Given the description of an element on the screen output the (x, y) to click on. 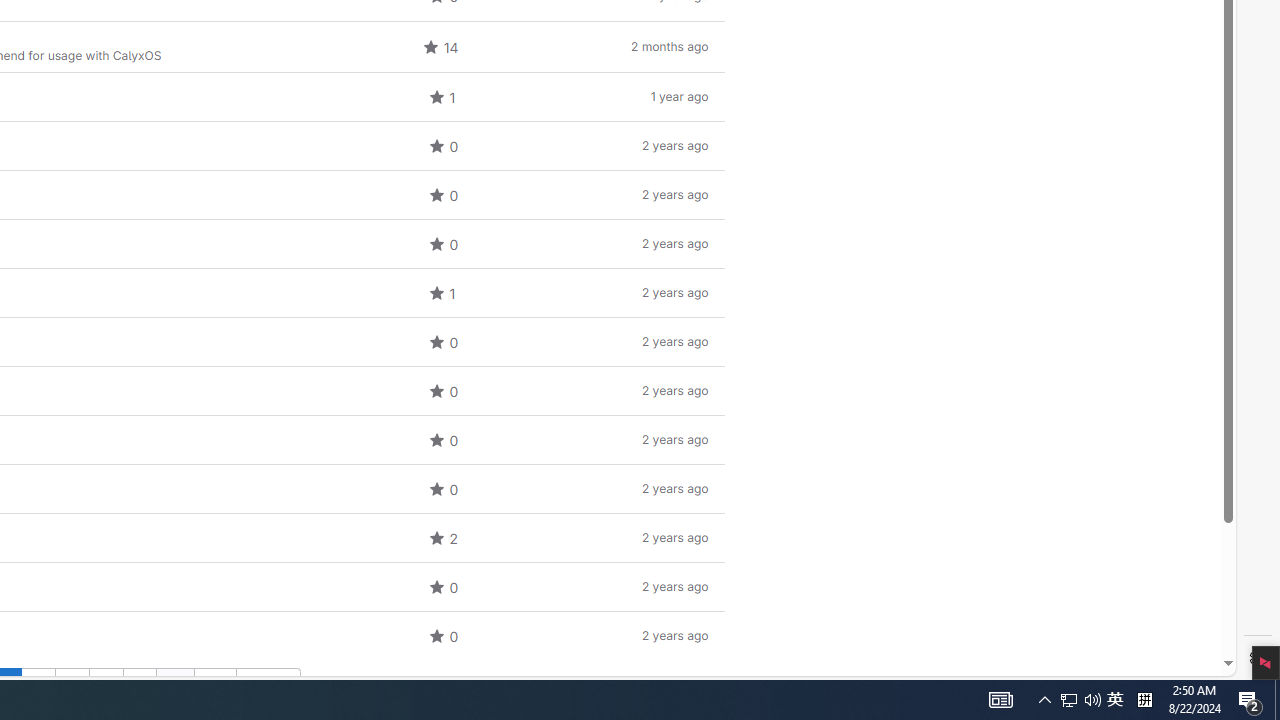
Go to next page (267, 685)
22 (215, 685)
Next (267, 685)
Go to page 5 (139, 685)
2 (38, 685)
Go to last page (214, 685)
Go to page 4 (106, 685)
4 (106, 685)
Go to page 2 (38, 685)
Go to page 3 (71, 685)
3 (72, 685)
5 (139, 685)
